Given the description of an element on the screen output the (x, y) to click on. 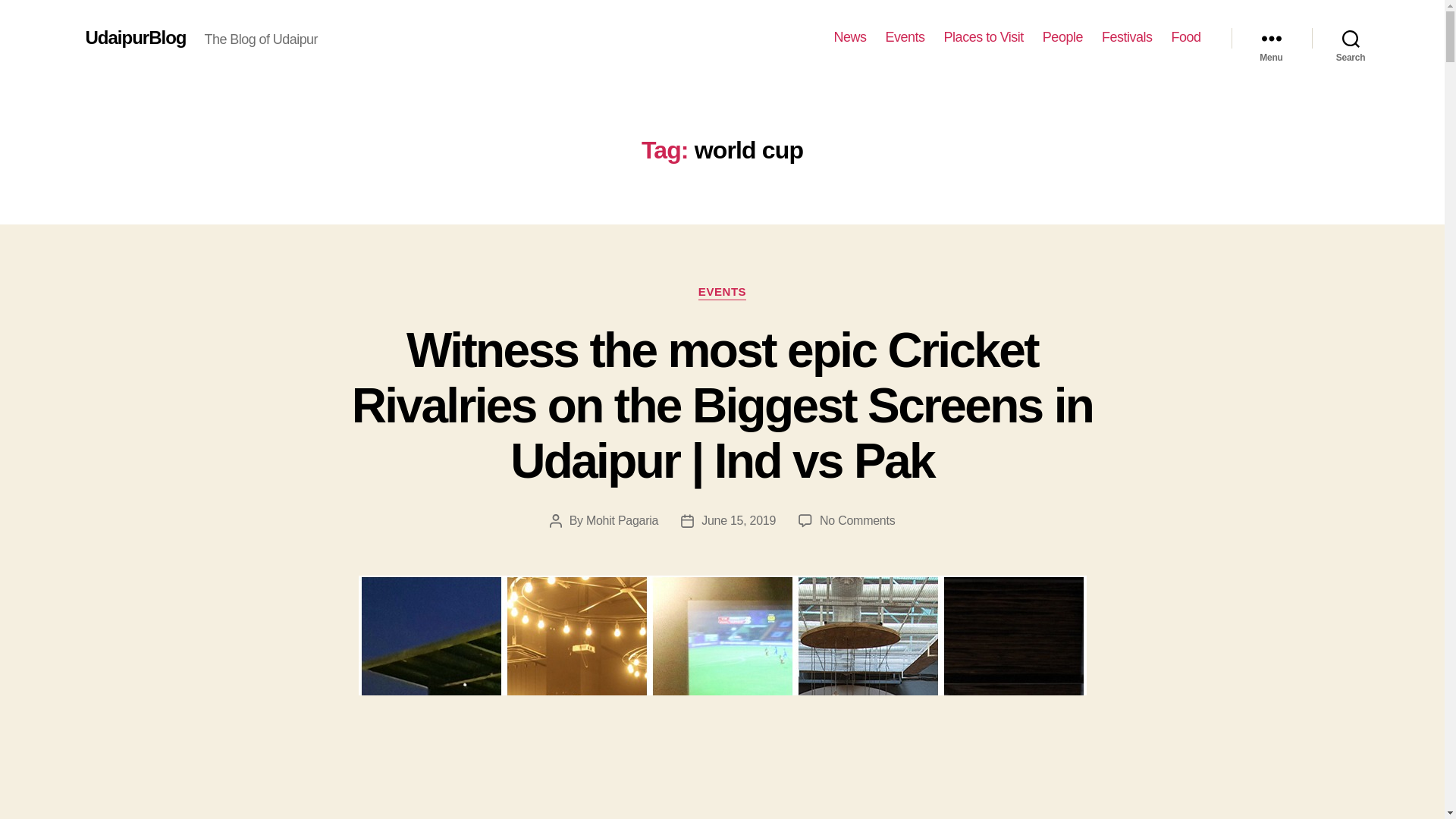
June 15, 2019 (738, 520)
Search (1350, 37)
Festivals (1127, 37)
People (1062, 37)
UdaipurBlog (135, 37)
Events (904, 37)
Menu (1271, 37)
Mohit Pagaria (622, 520)
News (850, 37)
EVENTS (721, 292)
